Given the description of an element on the screen output the (x, y) to click on. 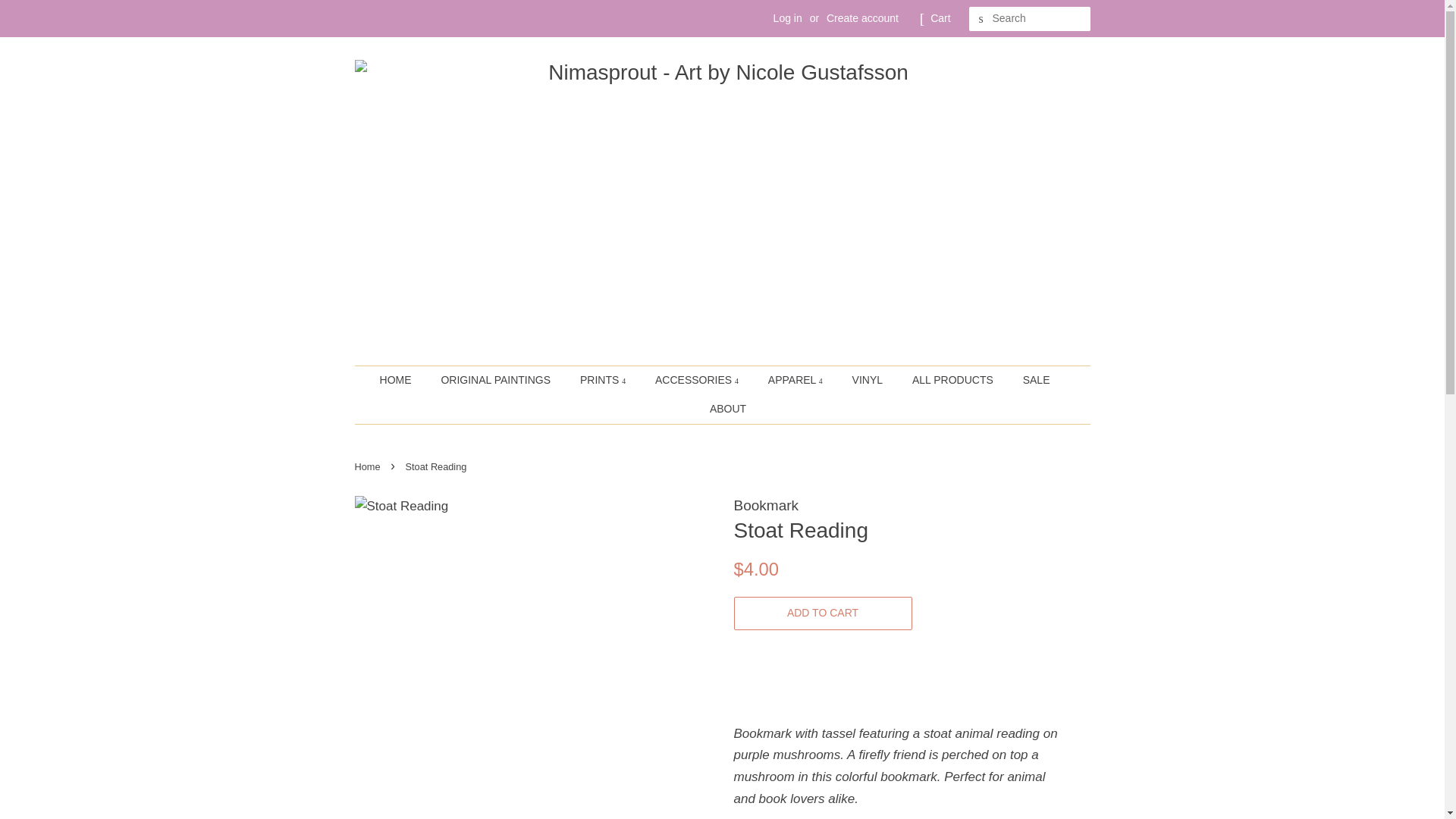
Cart (940, 18)
Log in (787, 18)
PRINTS (604, 380)
Back to the frontpage (369, 466)
Create account (862, 18)
HOME (403, 380)
SEARCH (980, 18)
ORIGINAL PAINTINGS (497, 380)
